Given the description of an element on the screen output the (x, y) to click on. 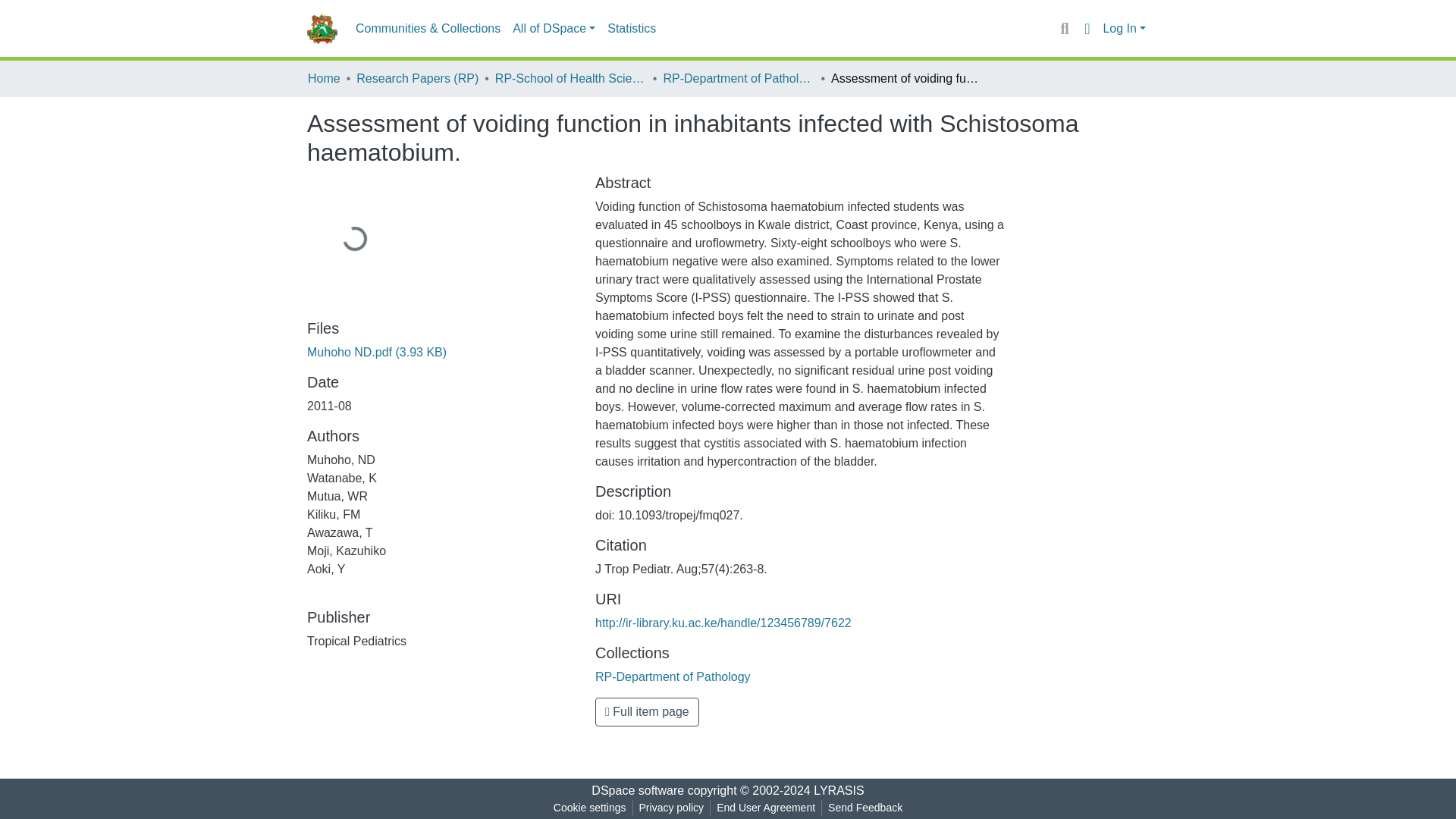
RP-Department of Pathology (737, 78)
Language switch (1086, 28)
Statistics (631, 28)
Log In (1123, 28)
Statistics (631, 28)
Full item page (646, 711)
End User Agreement (765, 807)
Privacy policy (671, 807)
All of DSpace (553, 28)
DSpace software (637, 789)
RP-School of Health Sciences (570, 78)
Home (323, 78)
Search (1064, 28)
LYRASIS (838, 789)
Cookie settings (589, 807)
